Given the description of an element on the screen output the (x, y) to click on. 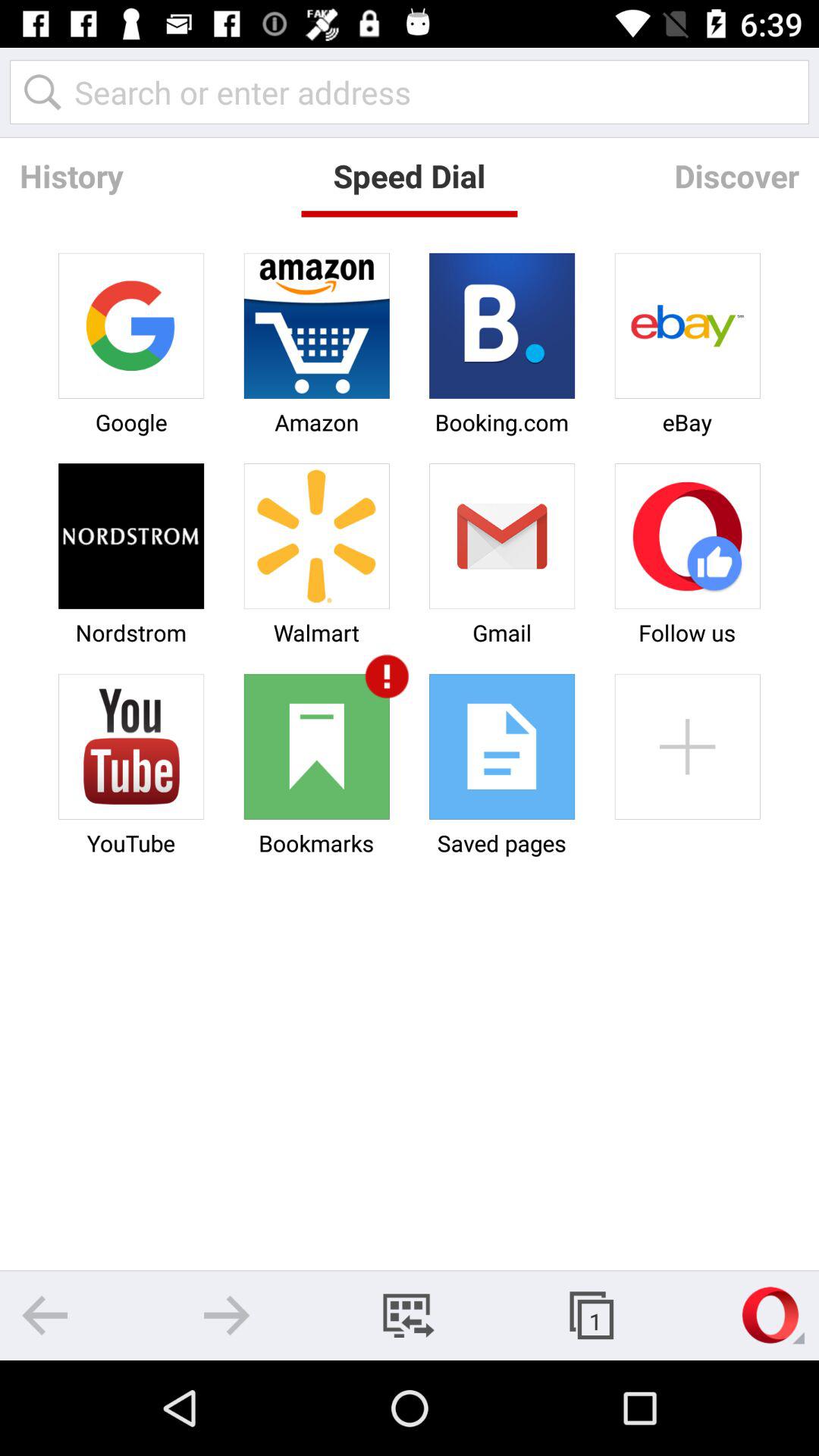
click the icon below follow us item (687, 746)
